Given the description of an element on the screen output the (x, y) to click on. 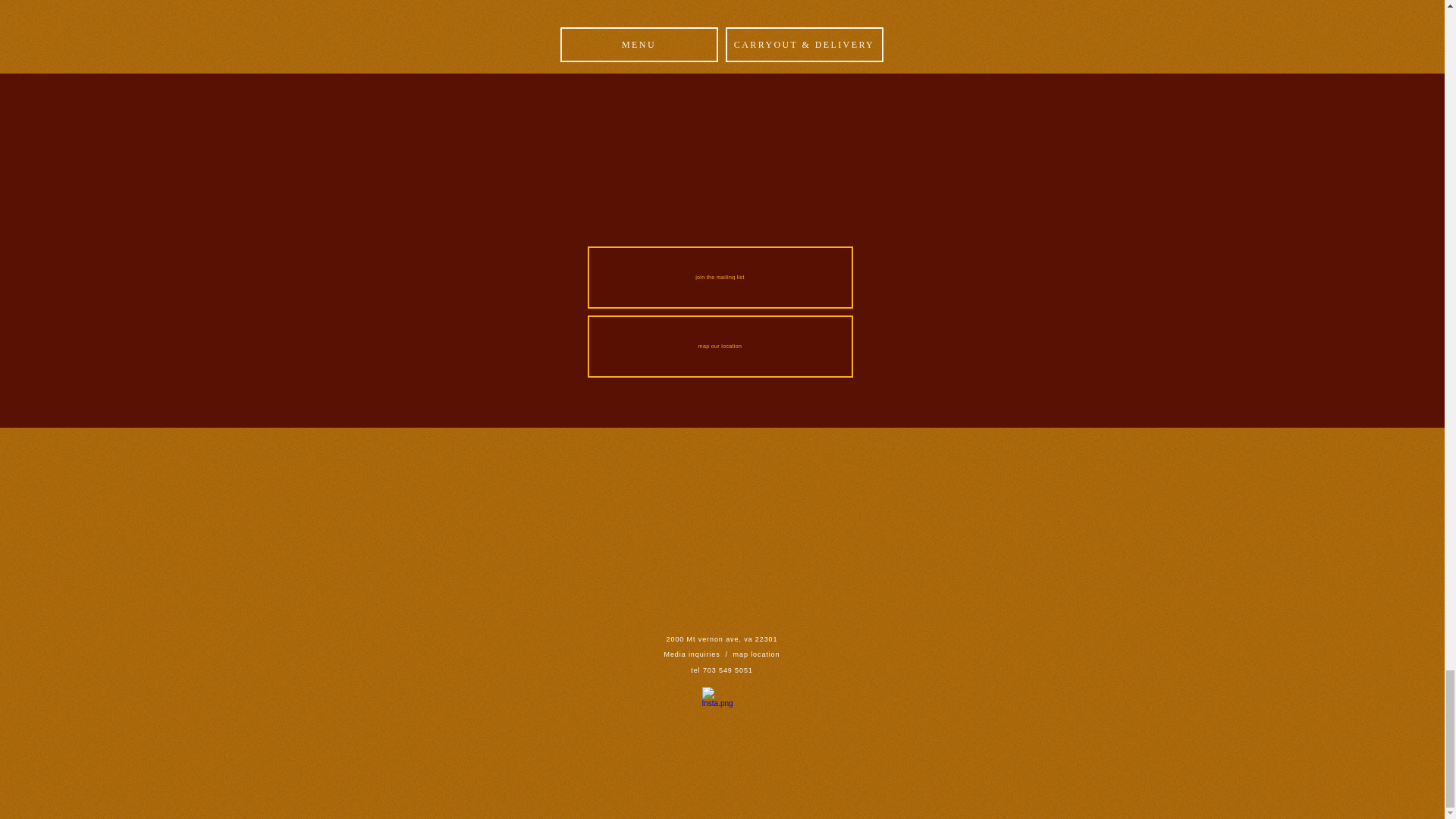
703 549 5051 (727, 670)
map location (756, 654)
map our location (718, 346)
join the mailing list (718, 277)
